Given the description of an element on the screen output the (x, y) to click on. 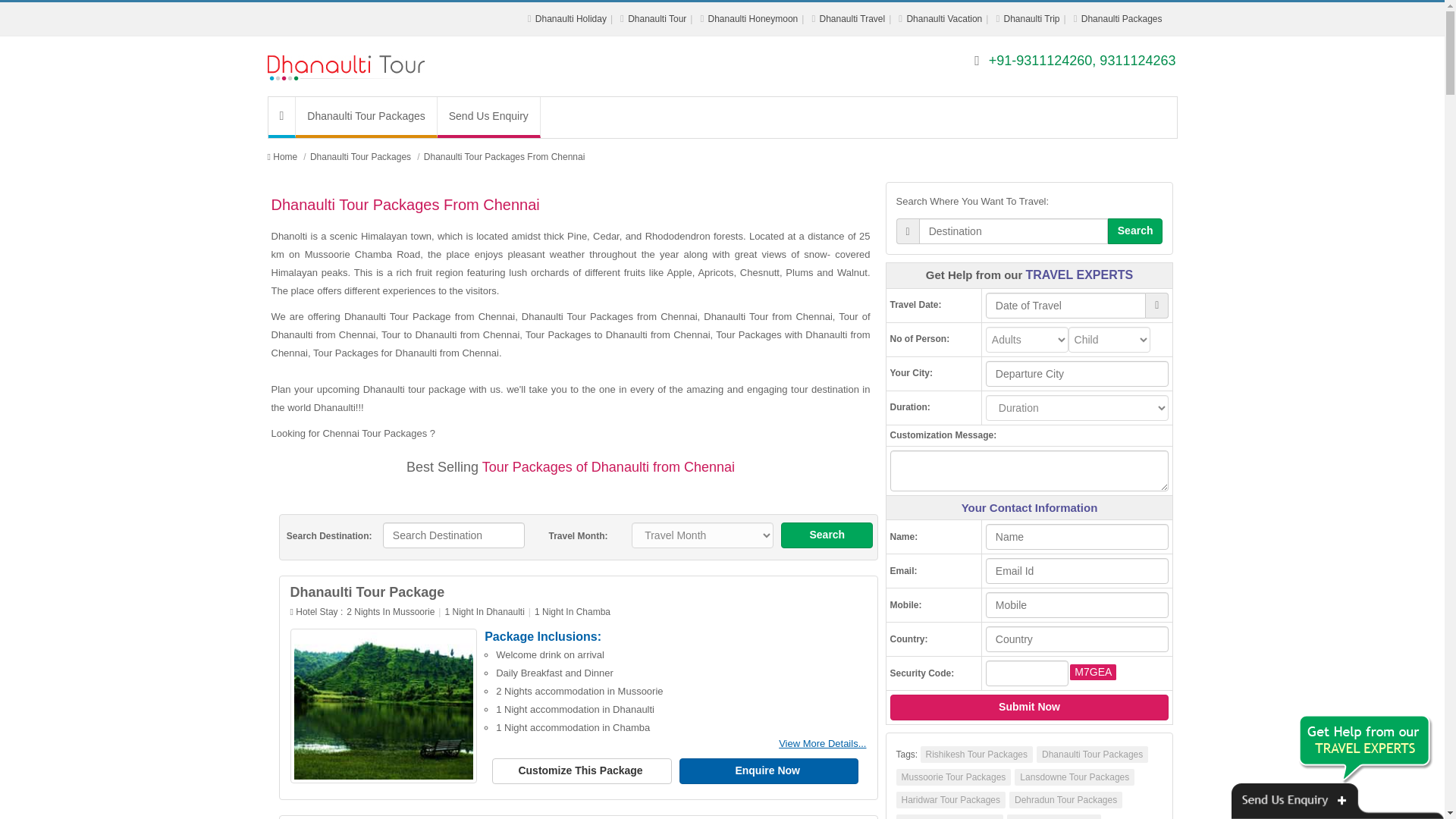
Dhanaulti Tour Package (366, 591)
Dhanaulti Packages (1121, 18)
Dhanaulti Tour Packages (656, 18)
Dhanaulti Vacation Packages (943, 18)
Dhanaulti Trip Packages (1031, 18)
Send Us Enquiry (489, 117)
Dhanaulti Packages (1121, 18)
Dhanaulti Tour Packages From Chennai (504, 156)
Dhanaulti Tour Packages (365, 117)
Dhanaulti Tour Package (822, 743)
Dhanaulti Tour Package (383, 705)
Dhanaulti Travel Packages (851, 18)
Enquire Now (769, 770)
Dhanaulti Tour Packages (285, 156)
Dhanaulti Tour Packages From Chennai (504, 156)
